Given the description of an element on the screen output the (x, y) to click on. 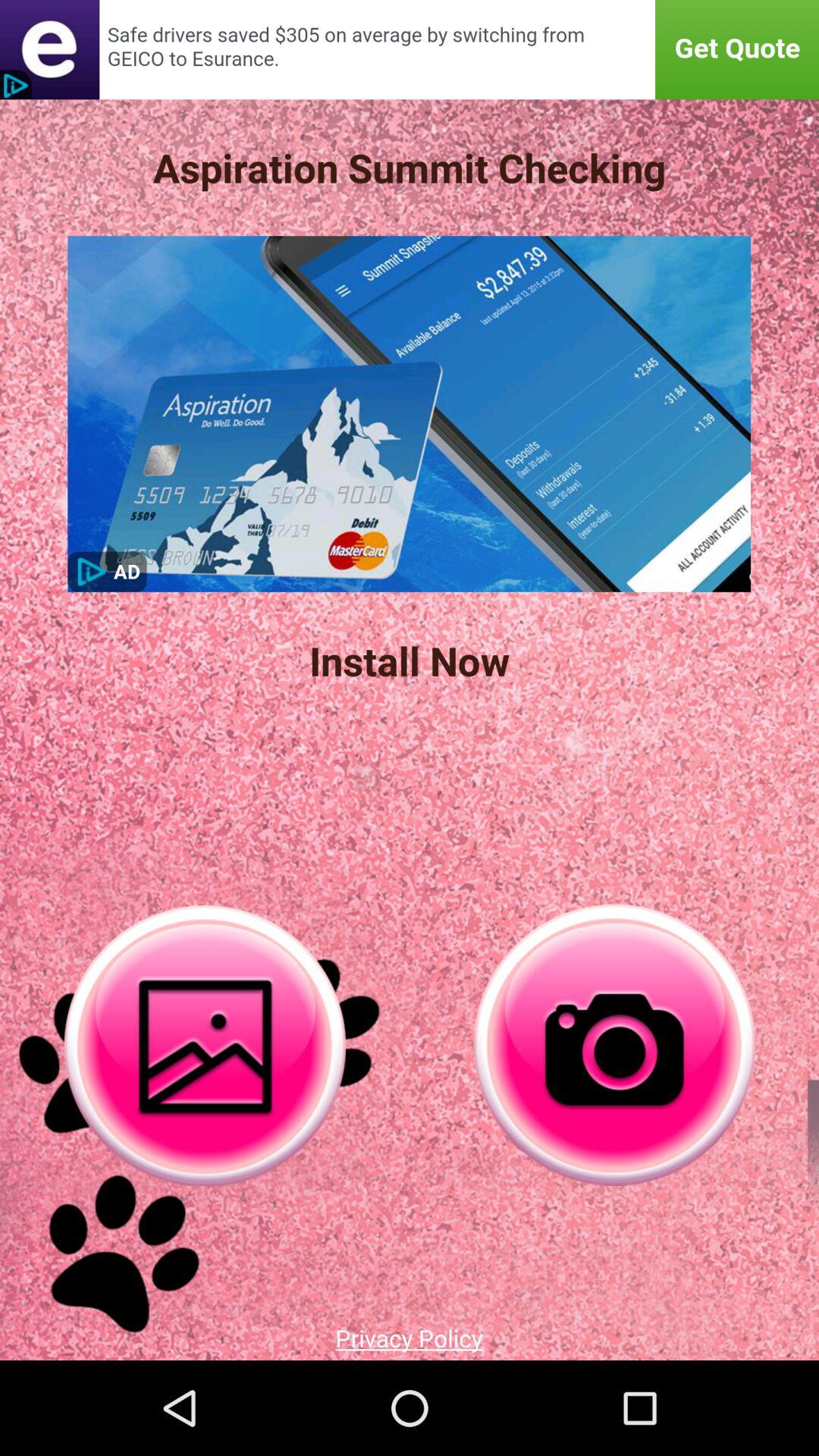
type text box (409, 49)
